Given the description of an element on the screen output the (x, y) to click on. 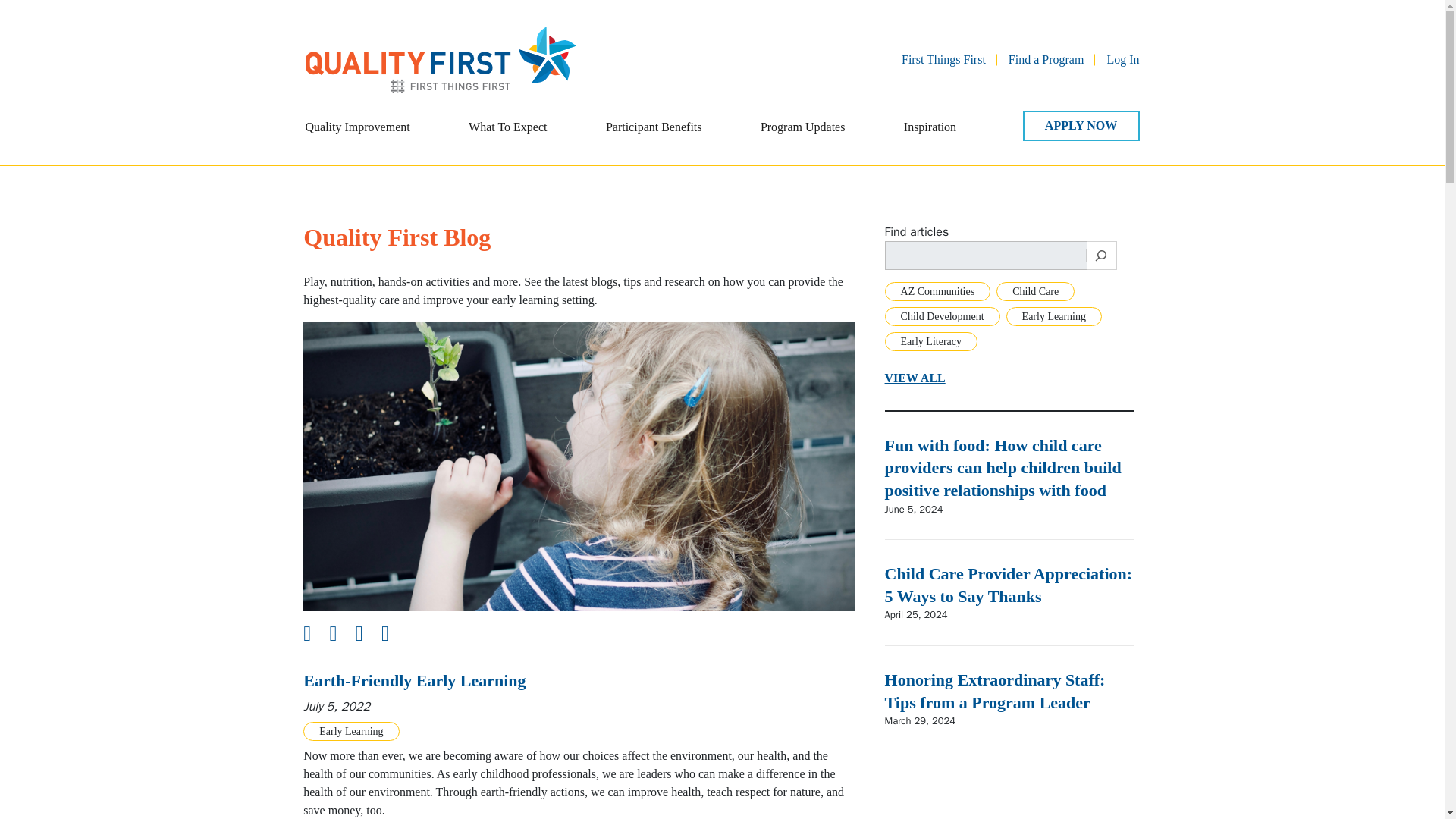
Program Updates (802, 137)
Find a Program (1046, 59)
First Things First (943, 59)
Program Updates (802, 137)
APPLY NOW (1080, 125)
Quality Improvement (356, 137)
Log In (1122, 59)
First Things First (943, 59)
What To Expect (507, 137)
Quality Improvement (356, 137)
Participant Benefits (653, 137)
What To Expect (507, 137)
Inspiration (930, 137)
Participant Benefits (653, 137)
Apply Now (1080, 125)
